Given the description of an element on the screen output the (x, y) to click on. 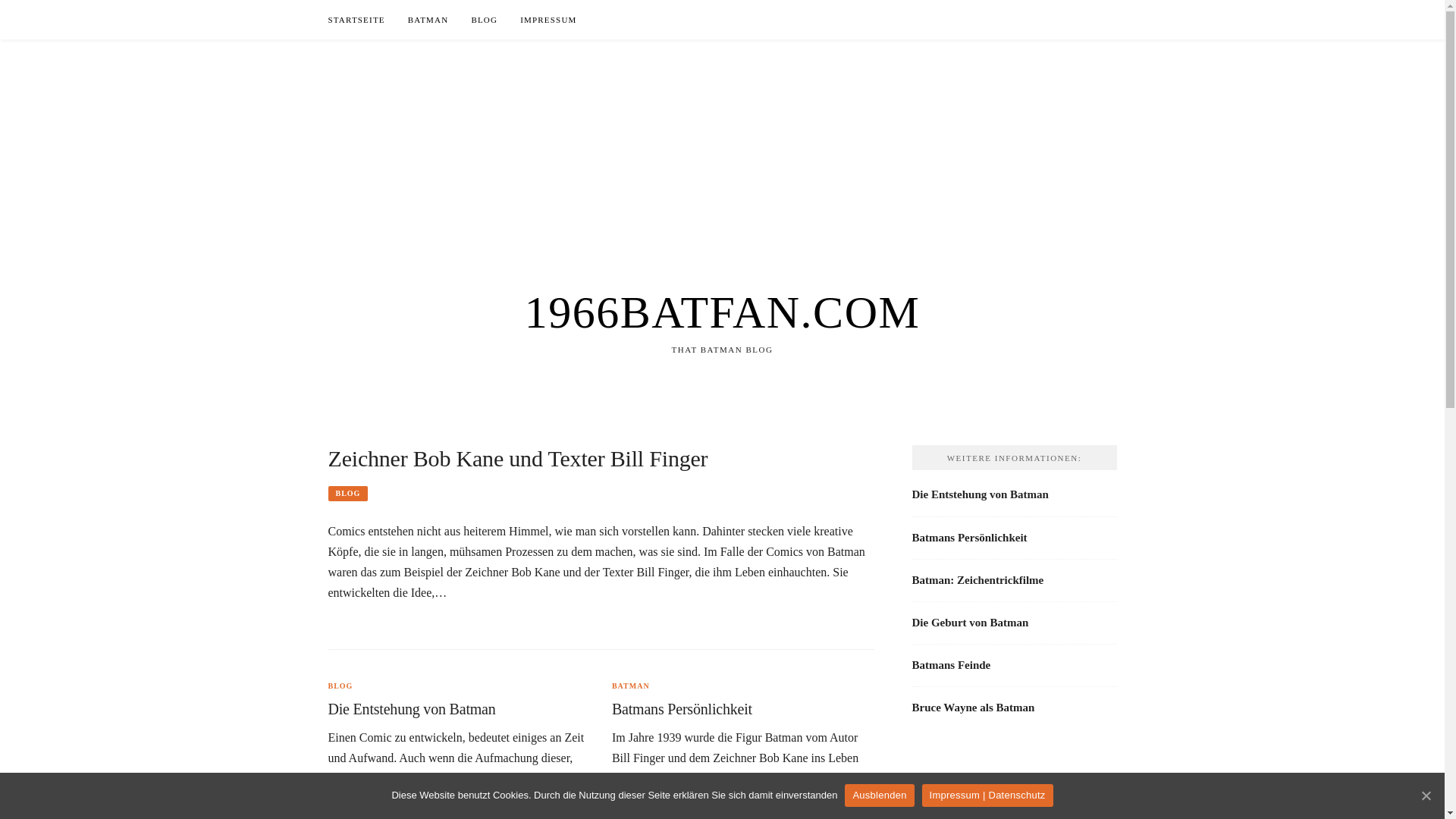
IMPRESSUM Element type: text (548, 19)
BLOG Element type: text (483, 19)
1966BATFAN.COM Element type: text (722, 312)
Skip to content Element type: text (0, 0)
Die Geburt von Batman Element type: text (969, 622)
Zeichner Bob Kane und Texter Bill Finger Element type: text (517, 457)
Die Entstehung von Batman Element type: text (411, 708)
Impressum | Datenschutz Element type: text (987, 795)
Batmans Feinde Element type: text (950, 664)
BATMAN Element type: text (427, 19)
STARTSEITE Element type: text (355, 19)
BLOG Element type: text (347, 493)
Advertisement Element type: hover (721, 145)
Ausblenden Element type: text (878, 795)
Bruce Wayne als Batman Element type: text (972, 707)
BLOG Element type: text (339, 686)
Batman: Zeichentrickfilme Element type: text (977, 580)
Die Entstehung von Batman Element type: text (979, 494)
BATMAN Element type: text (630, 686)
